Given the description of an element on the screen output the (x, y) to click on. 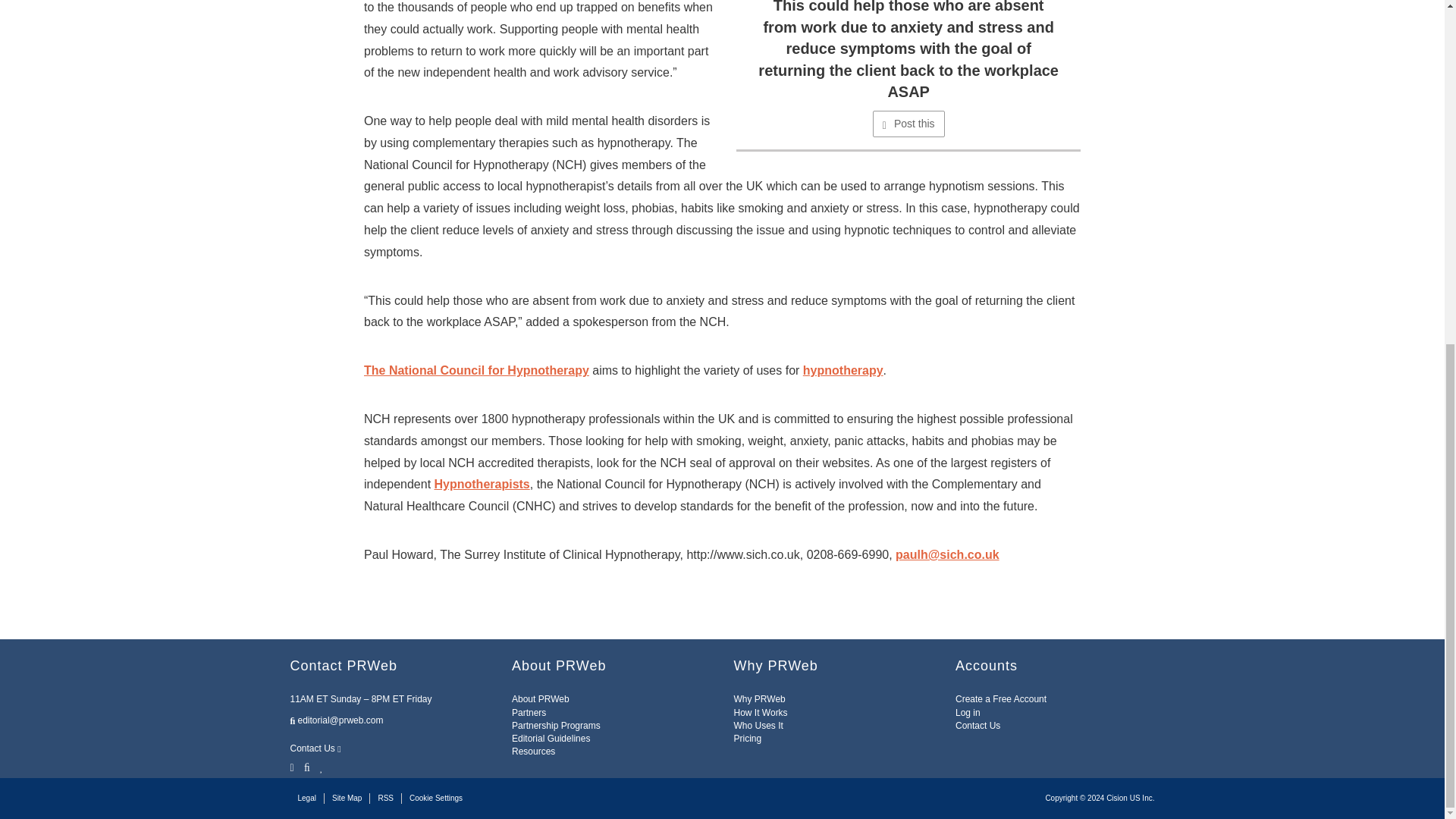
About PRWeb (540, 698)
Why PRWeb (759, 698)
Partnership Programs (555, 725)
Editorial Guidelines (550, 738)
Facebook (306, 766)
Partners (529, 712)
Resources (533, 751)
